Given the description of an element on the screen output the (x, y) to click on. 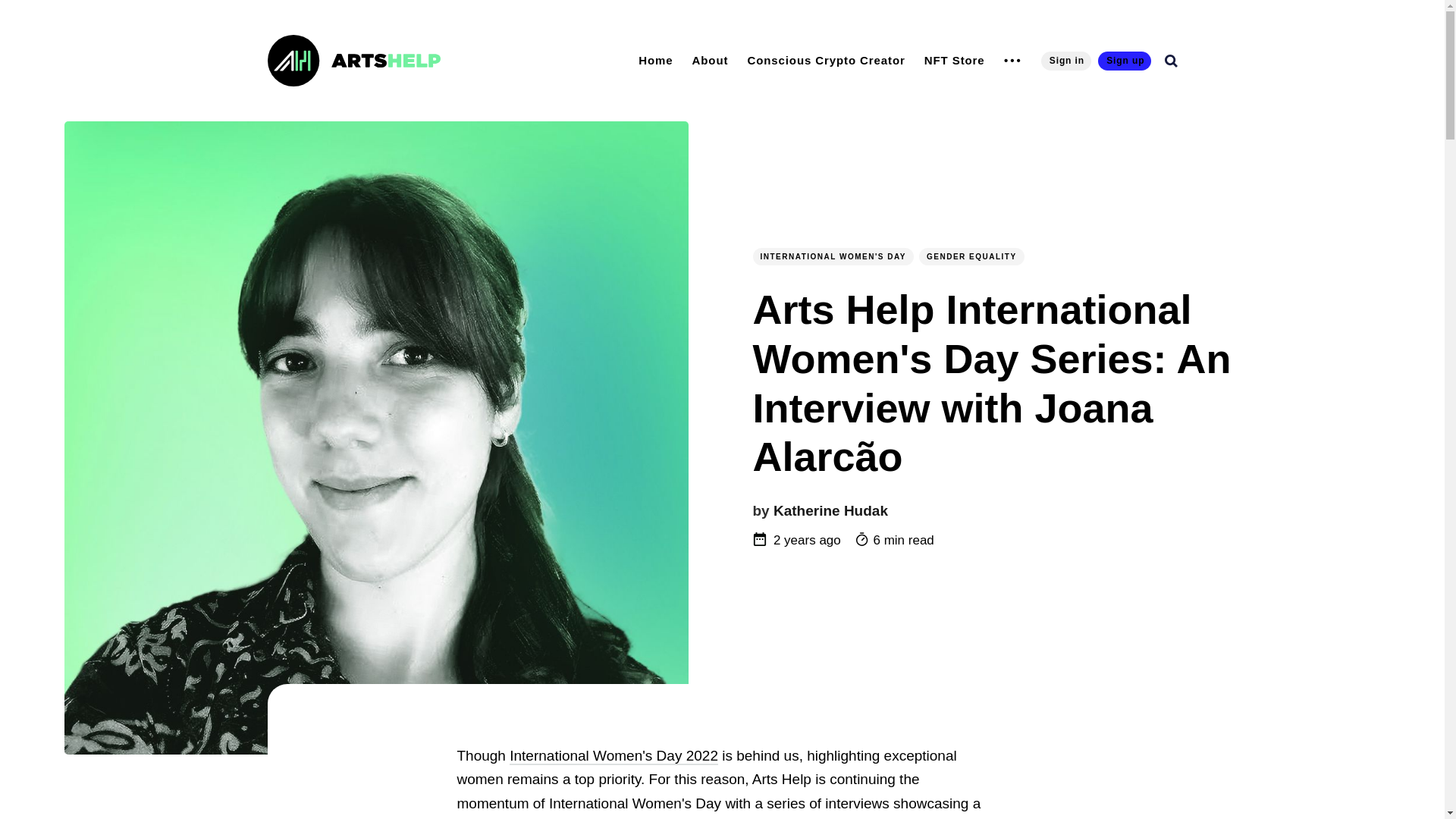
Home (654, 60)
Sign in (1065, 60)
International Women's Day 2022 (613, 755)
Sign up (1124, 60)
GENDER EQUALITY (971, 256)
About (710, 60)
NFT Store (954, 60)
Conscious Crypto Creator (825, 60)
Katherine Hudak (830, 510)
INTERNATIONAL WOMEN'S DAY (832, 256)
